Given the description of an element on the screen output the (x, y) to click on. 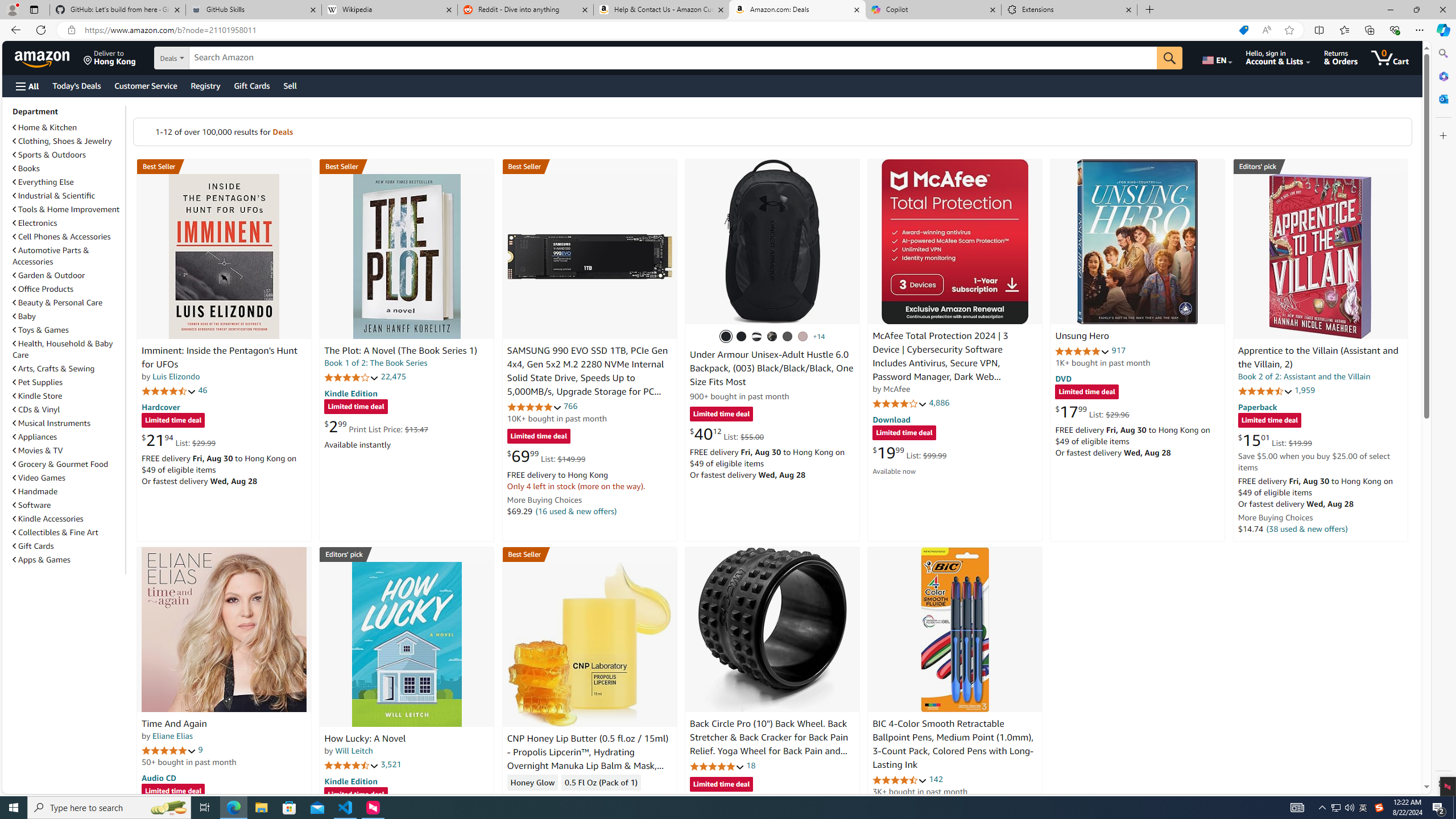
Open Menu (26, 86)
(001) Black / Black / Metallic Gold (741, 336)
Appliances (67, 436)
4.1 out of 5 stars (899, 403)
Apps & Games (67, 559)
Search Amazon (673, 57)
Amazon (43, 57)
Musical Instruments (51, 422)
$21.94 List: $29.99 (178, 439)
(015) Tetra Gray / Tetra Gray / Gray Matter (802, 336)
CDs & Vinyl (67, 409)
Kindle Accessories (47, 518)
